Given the description of an element on the screen output the (x, y) to click on. 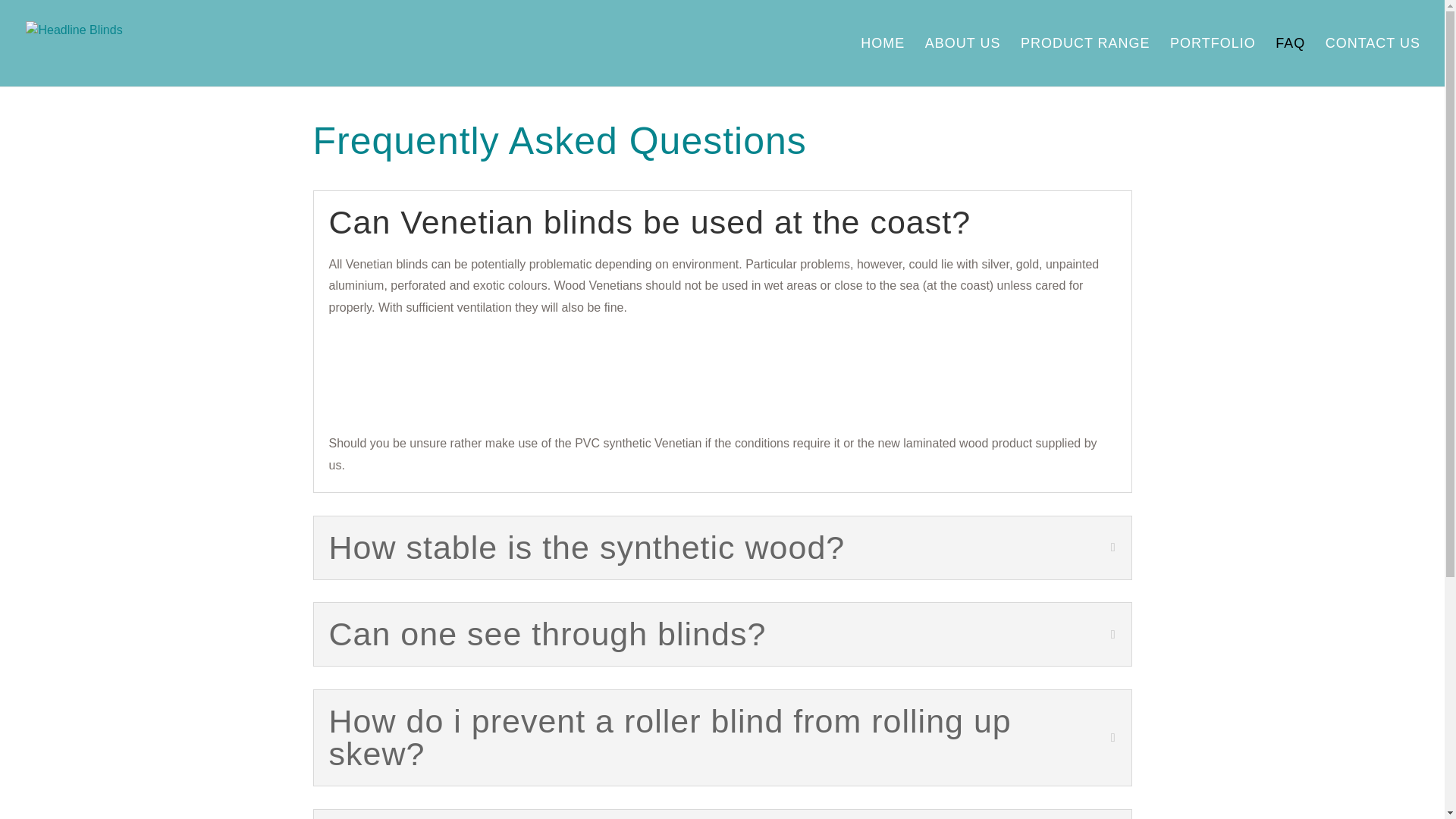
PRODUCT RANGE (1085, 61)
ABOUT US (962, 61)
CONTACT US (1372, 61)
HOME (882, 61)
PORTFOLIO (1212, 61)
